Given the description of an element on the screen output the (x, y) to click on. 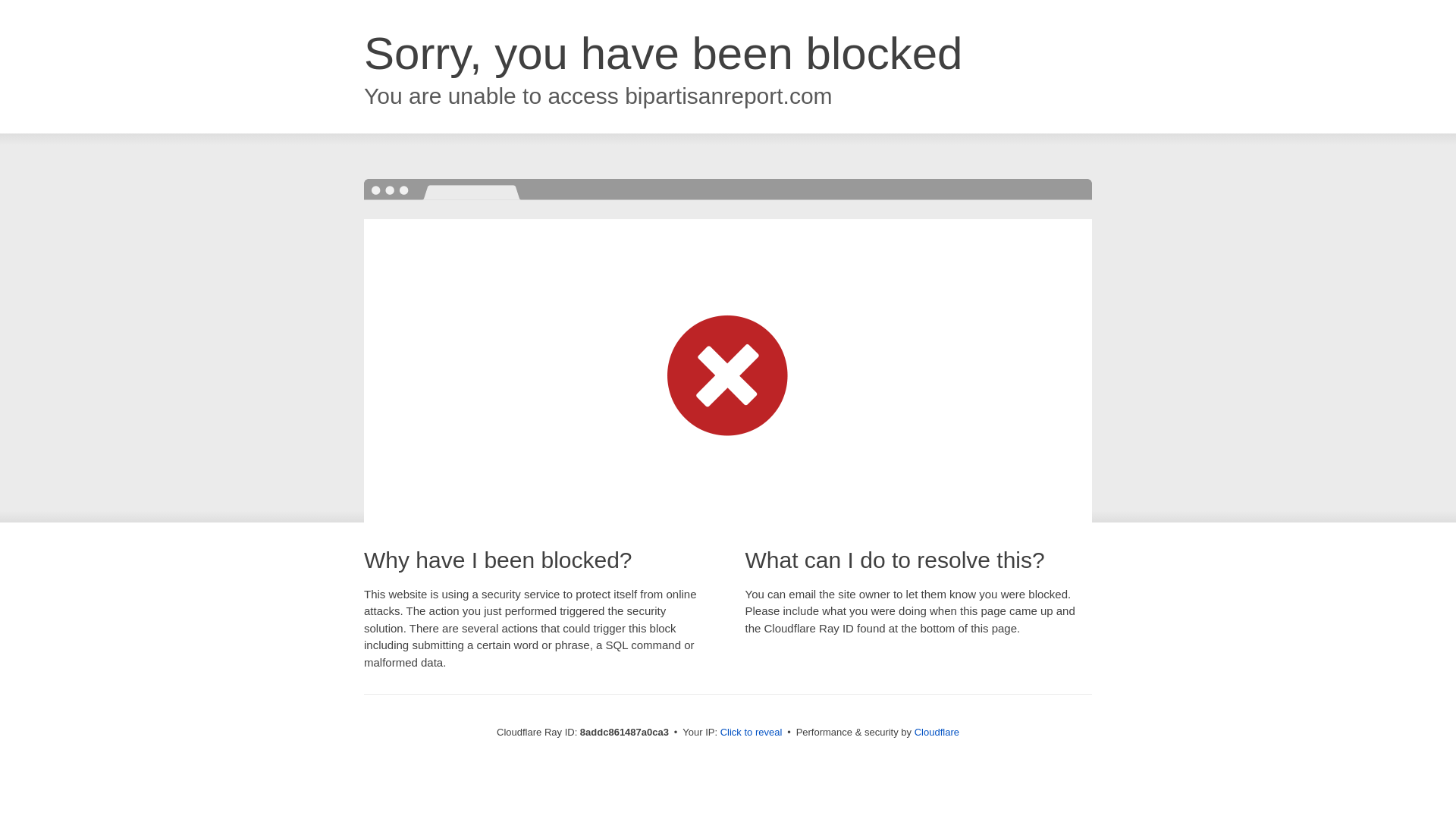
Click to reveal (751, 732)
Cloudflare (936, 731)
